Given the description of an element on the screen output the (x, y) to click on. 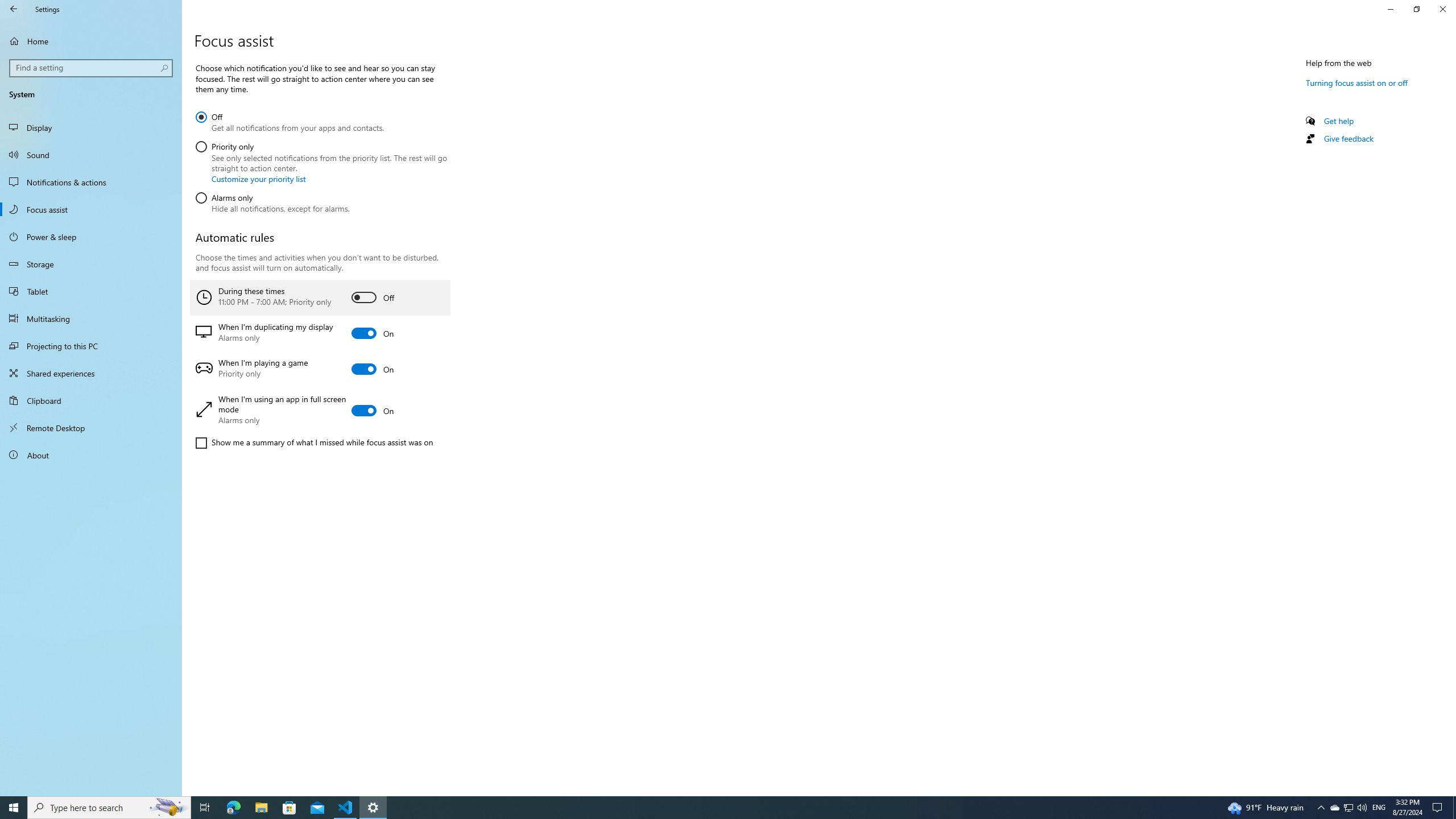
Settings - 1 running window (373, 807)
About (91, 454)
Storage (91, 263)
Action Center, No new notifications (1439, 807)
Visual Studio Code - 1 running window (345, 807)
Alarms only (272, 201)
During these times (319, 297)
